Given the description of an element on the screen output the (x, y) to click on. 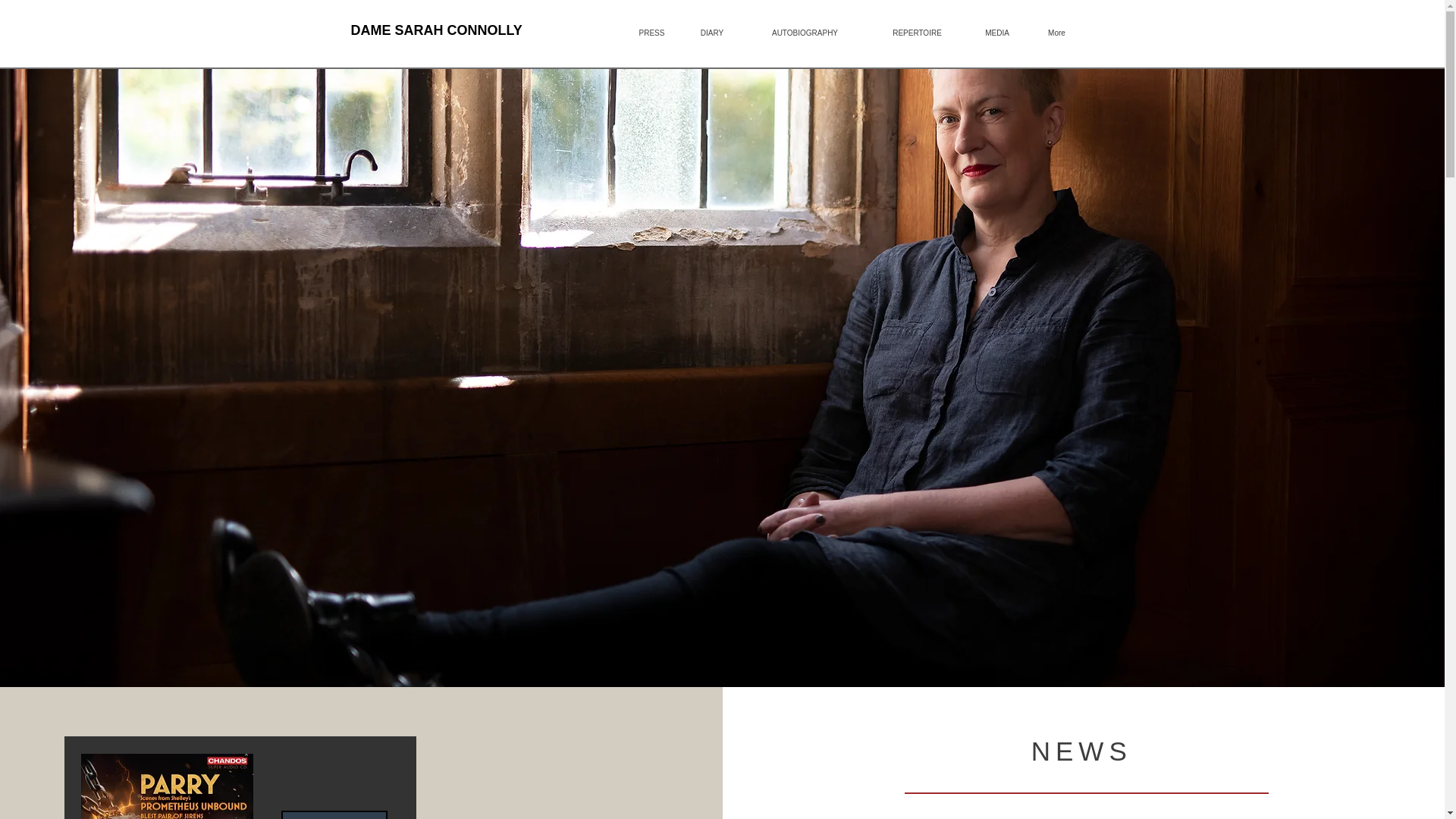
AUTOBIOGRAPHY (804, 32)
BUY NOW (334, 814)
REPERTOIRE (916, 32)
DAME SARAH CONNOLLY (435, 29)
DIARY (712, 32)
